Given the description of an element on the screen output the (x, y) to click on. 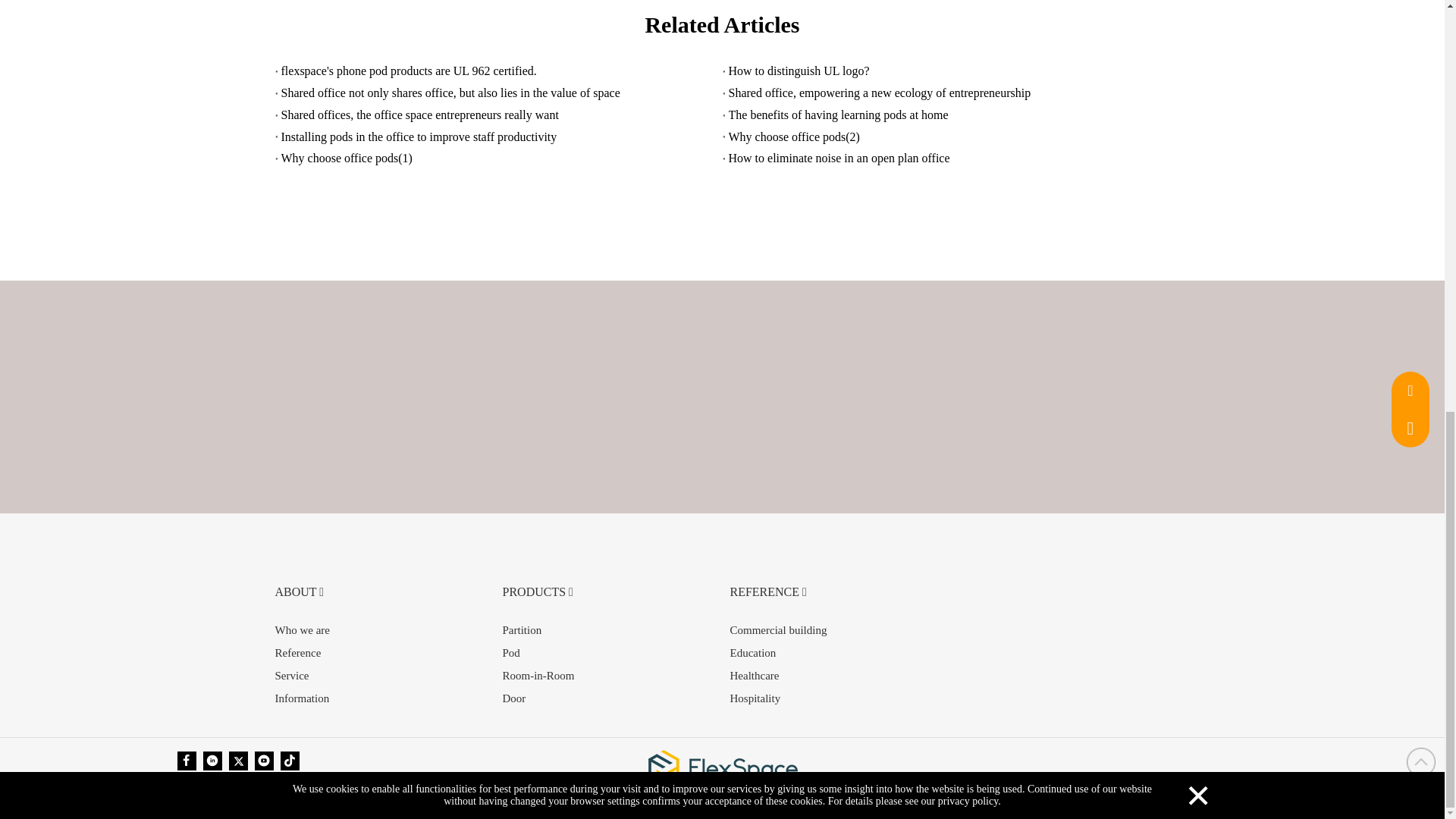
How to distinguish UL logo? (945, 71)
Who we are (302, 630)
Service (291, 675)
flexspace's phone pod products are UL 962 certified. (498, 71)
Shared offices, the office space entrepreneurs really want (498, 115)
How to eliminate noise in an open plan office (945, 158)
Installing pods in the office to improve staff productivity (498, 137)
The benefits of having learning pods at home (945, 115)
Reference (297, 653)
